Given the description of an element on the screen output the (x, y) to click on. 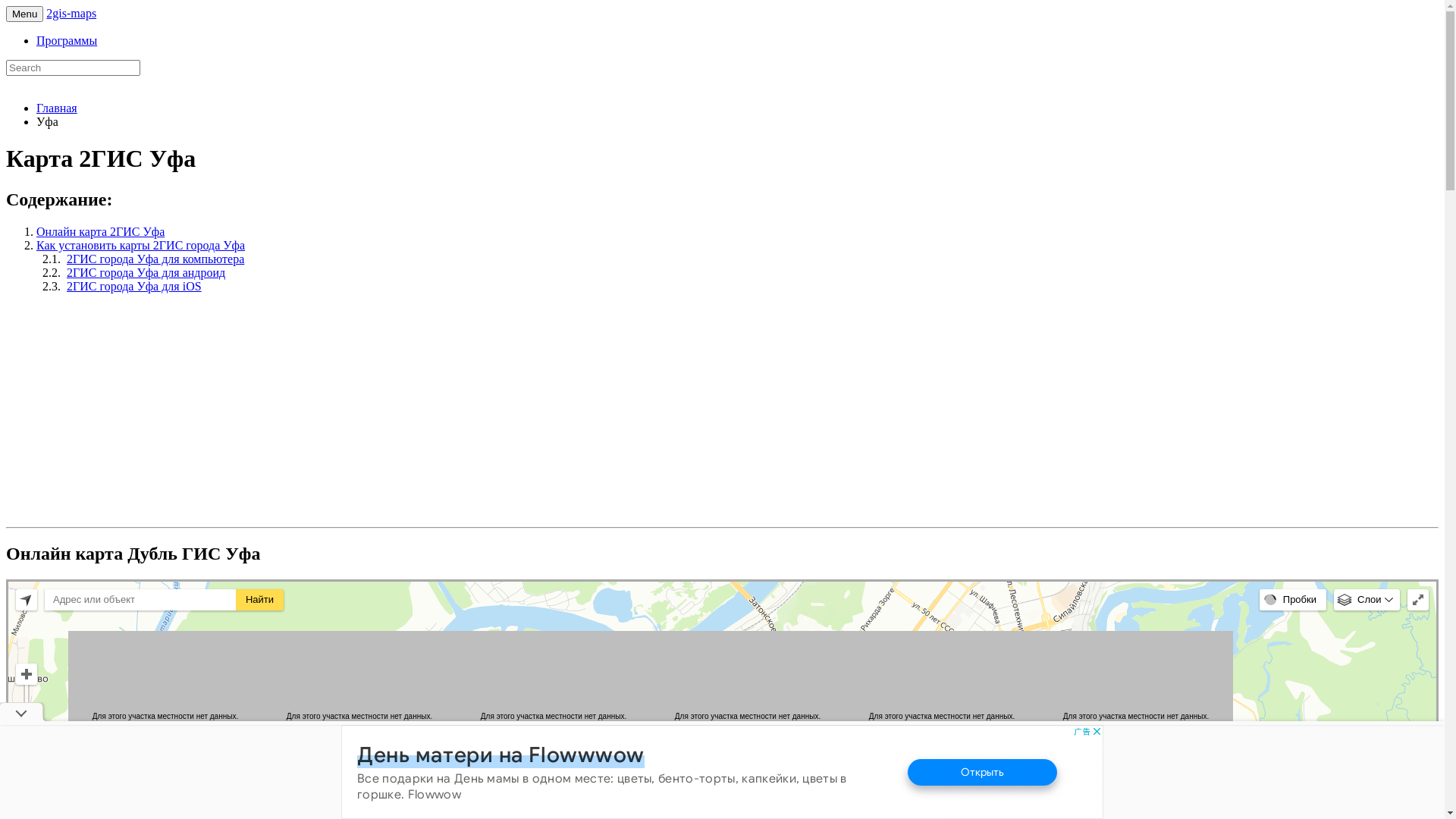
2gis-maps Element type: text (71, 12)
Advertisement Element type: hover (133, 411)
Menu Element type: text (24, 13)
